Given the description of an element on the screen output the (x, y) to click on. 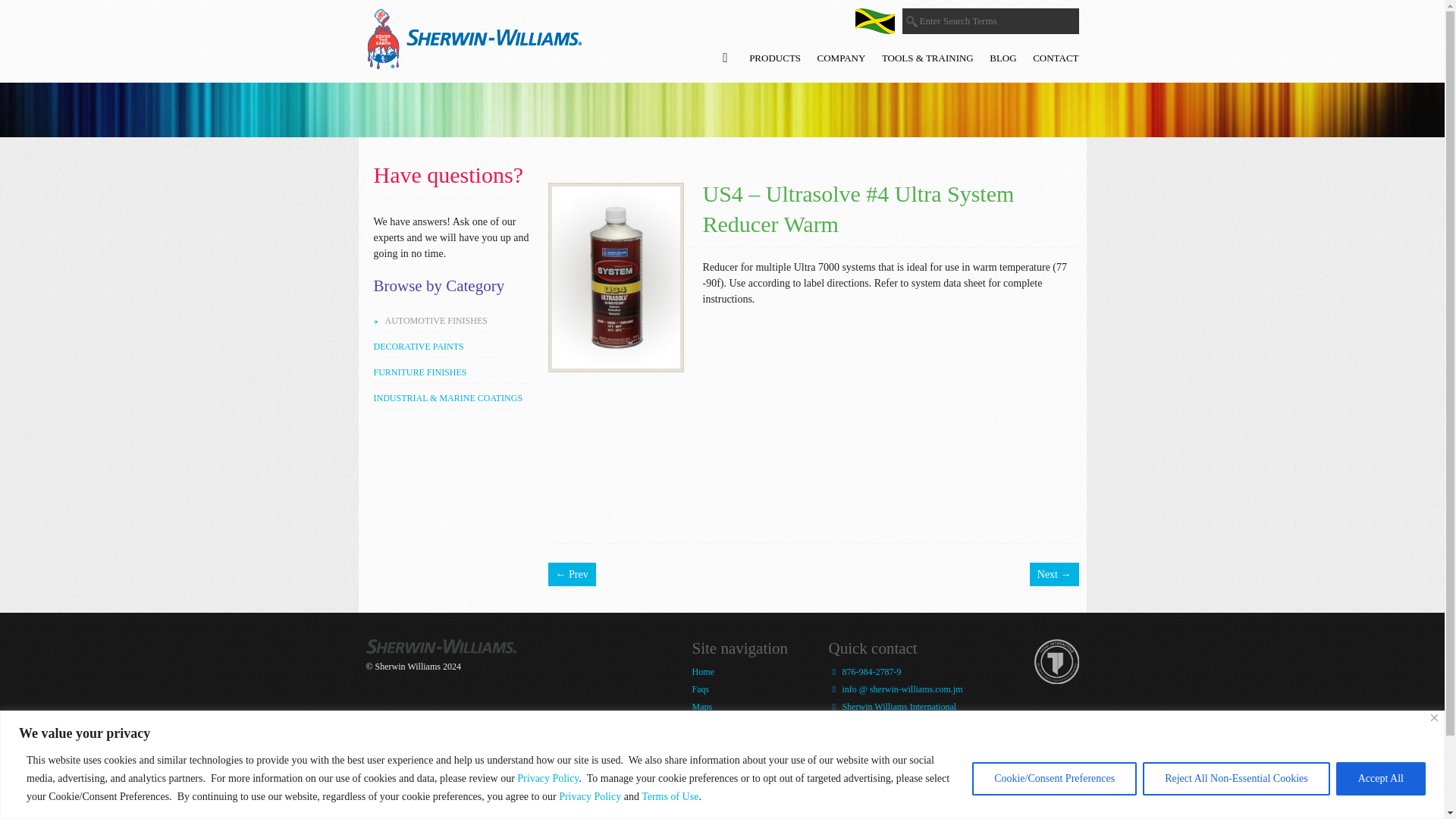
CONTACT (1055, 57)
Company (708, 772)
Faqs (700, 688)
Reject All Non-Essential Cookies (1236, 777)
Privacy Policy (547, 777)
Products (707, 724)
Maps (701, 706)
PRODUCTS (774, 57)
Snap-It Labour Day Competition (727, 748)
Terms of Use (670, 795)
Privacy Policy (590, 795)
BLOG (1003, 57)
Home (702, 671)
Accept All (1380, 777)
COMPANY (841, 57)
